Given the description of an element on the screen output the (x, y) to click on. 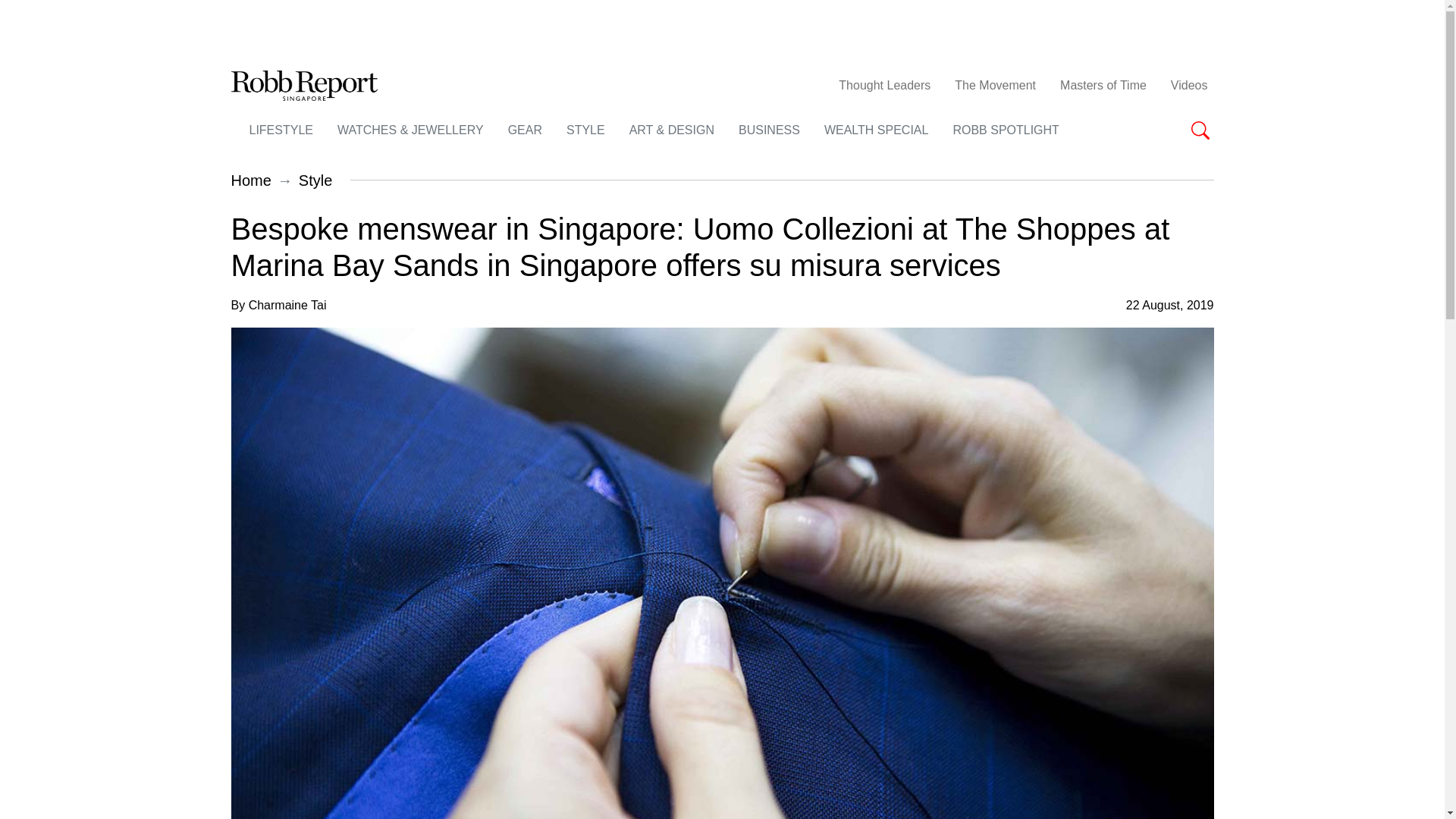
The Movement (995, 85)
Masters of Time (1103, 85)
Videos (1189, 85)
Thought Leaders (884, 85)
